Given the description of an element on the screen output the (x, y) to click on. 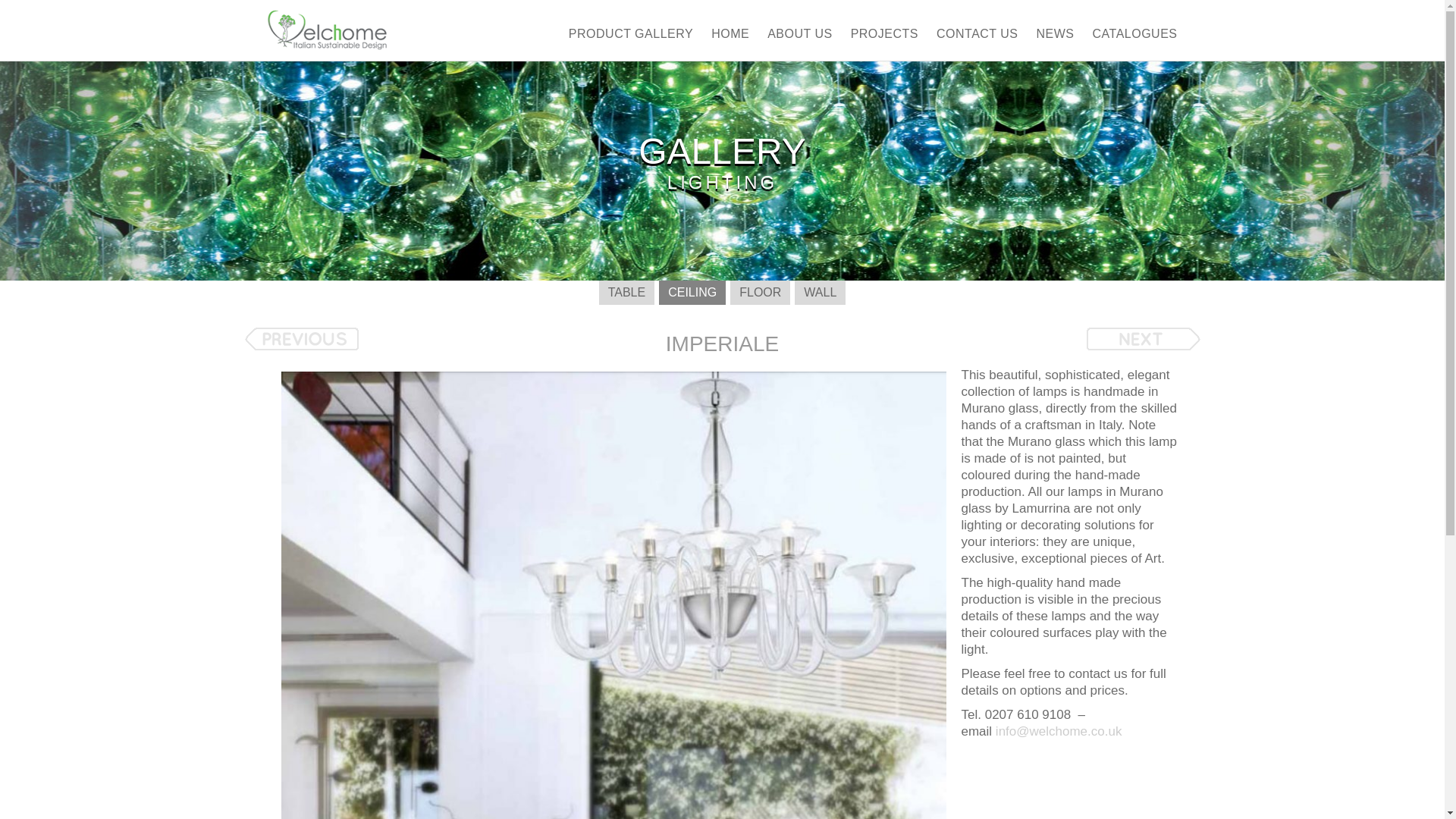
News (1055, 37)
FLOOR (760, 292)
HOME (730, 37)
WALL (819, 292)
Home (730, 37)
NEXT (1142, 338)
Catalogues (1135, 37)
Projects (884, 37)
ABOUT US (799, 37)
CONTACT US (976, 37)
Contact Us (976, 37)
CEILING (692, 292)
Product Gallery (631, 37)
PROJECTS (884, 37)
NEWS (1055, 37)
